Given the description of an element on the screen output the (x, y) to click on. 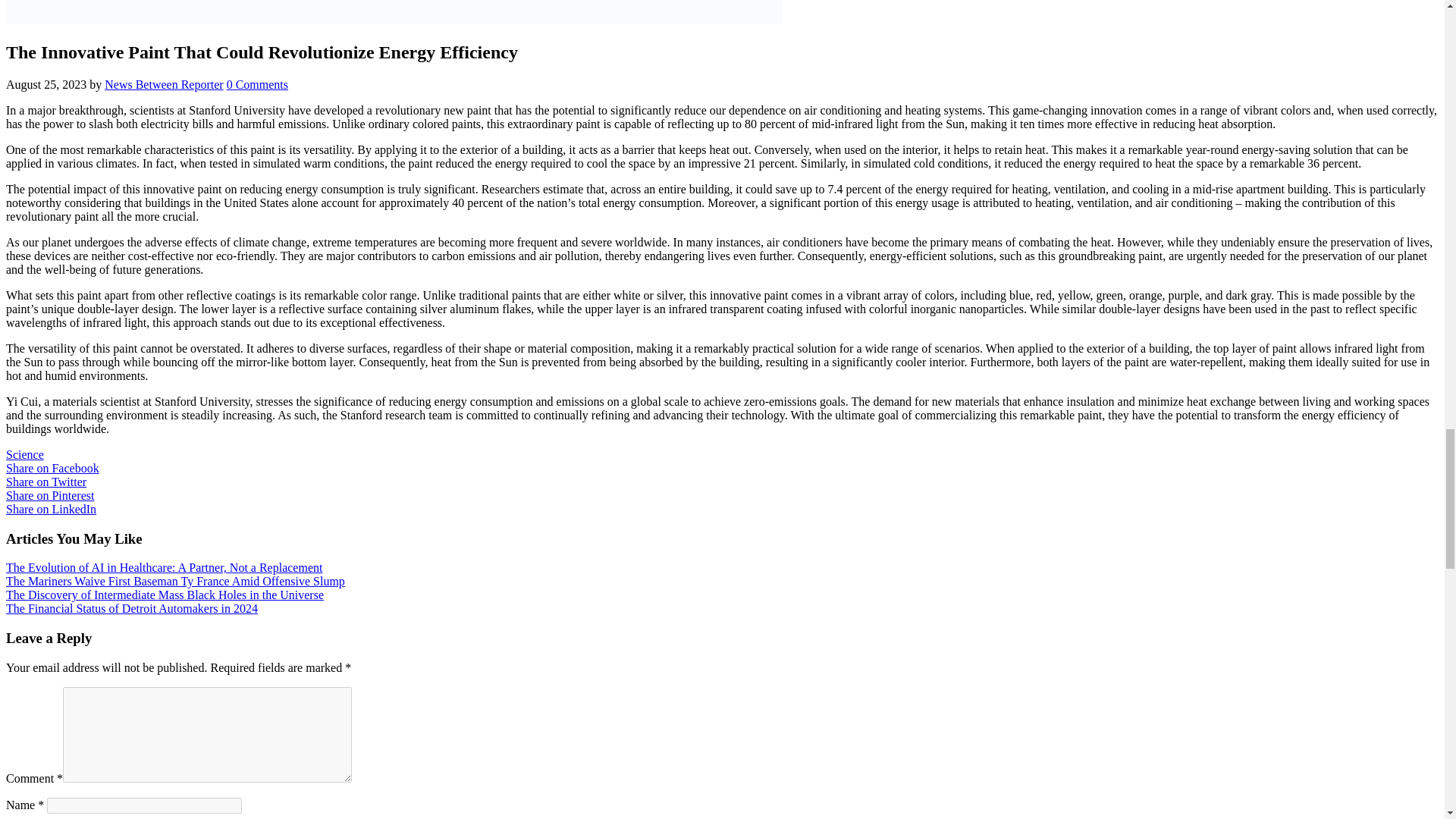
Science (24, 454)
